Given the description of an element on the screen output the (x, y) to click on. 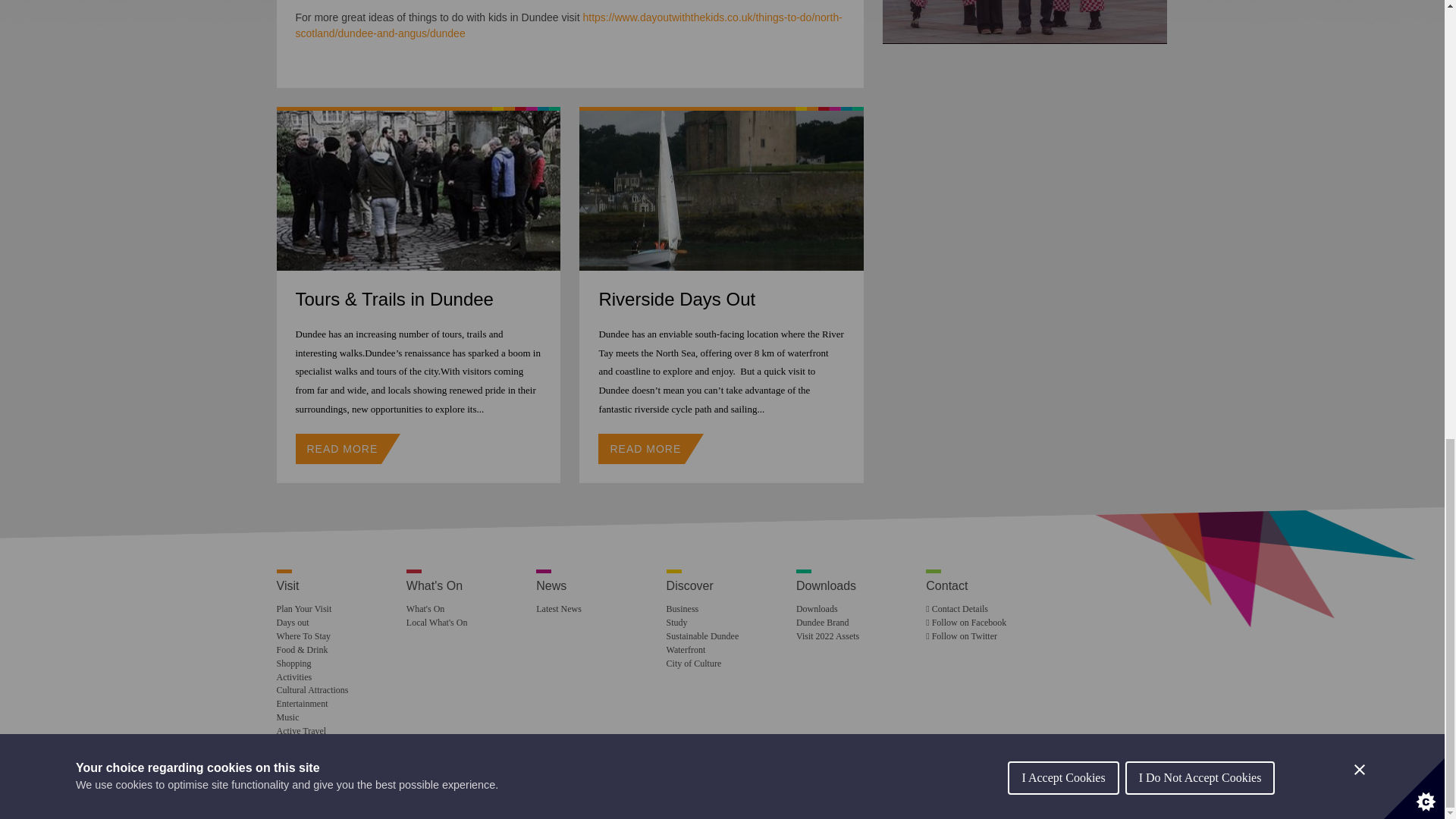
Dundee Food Festival (1024, 21)
Days out with the Kids (569, 25)
